Given the description of an element on the screen output the (x, y) to click on. 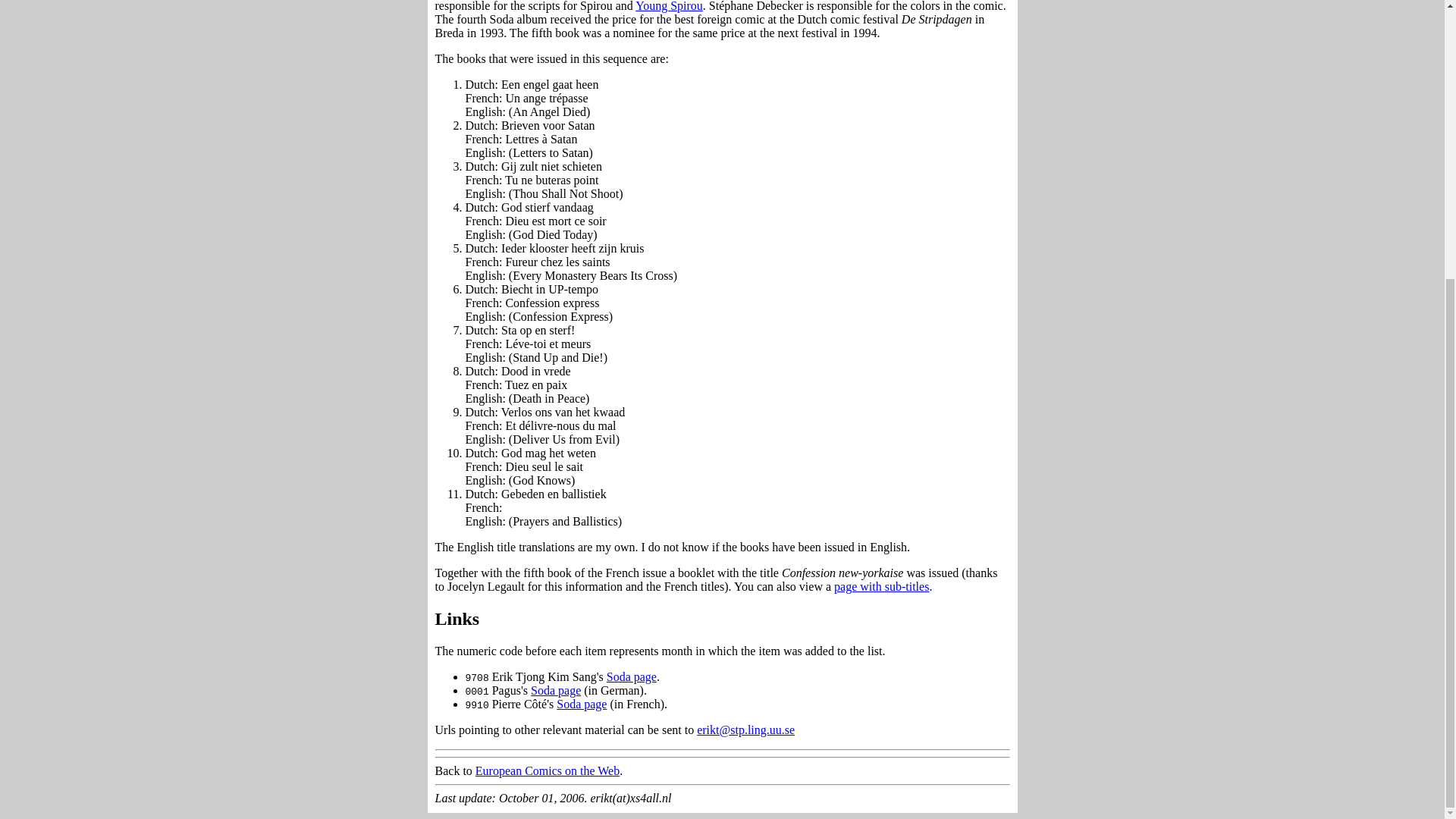
page with sub-titles (881, 585)
Soda page (631, 676)
Soda page (555, 689)
Young Spirou (668, 6)
European Comics on the Web (548, 770)
Soda page (581, 703)
